Given the description of an element on the screen output the (x, y) to click on. 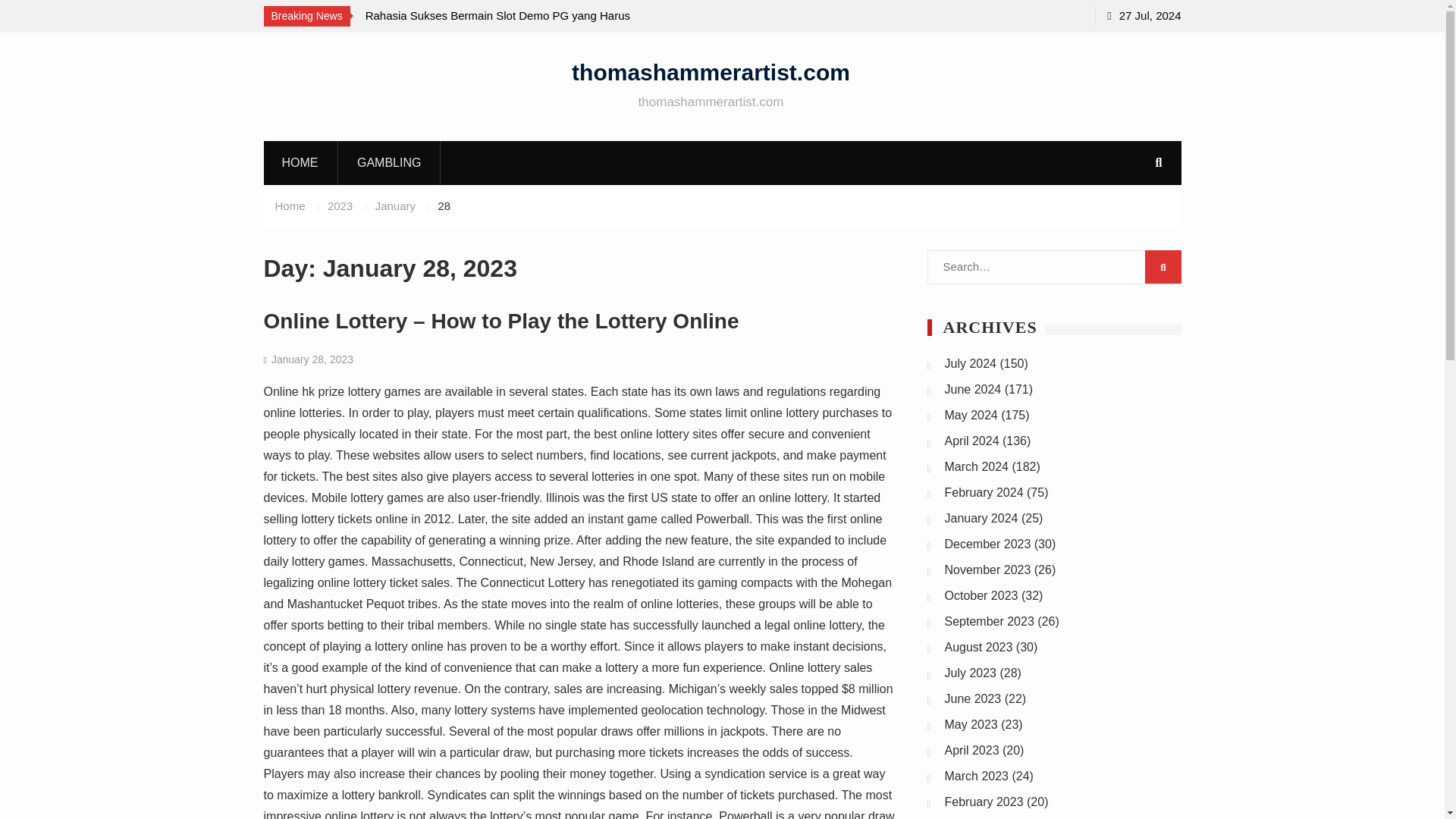
GAMBLING (389, 162)
April 2024 (971, 440)
2023 (339, 205)
March 2024 (976, 466)
thomashammerartist.com (711, 71)
July 2024 (970, 363)
June 2024 (972, 389)
HOME (299, 162)
Search for: (1053, 267)
February 2024 (983, 492)
Home (289, 205)
January (394, 205)
January 28, 2023 (311, 358)
May 2024 (970, 414)
Rahasia Sukses Bermain Slot Demo PG yang Harus Anda Ketahui (502, 25)
